Given the description of an element on the screen output the (x, y) to click on. 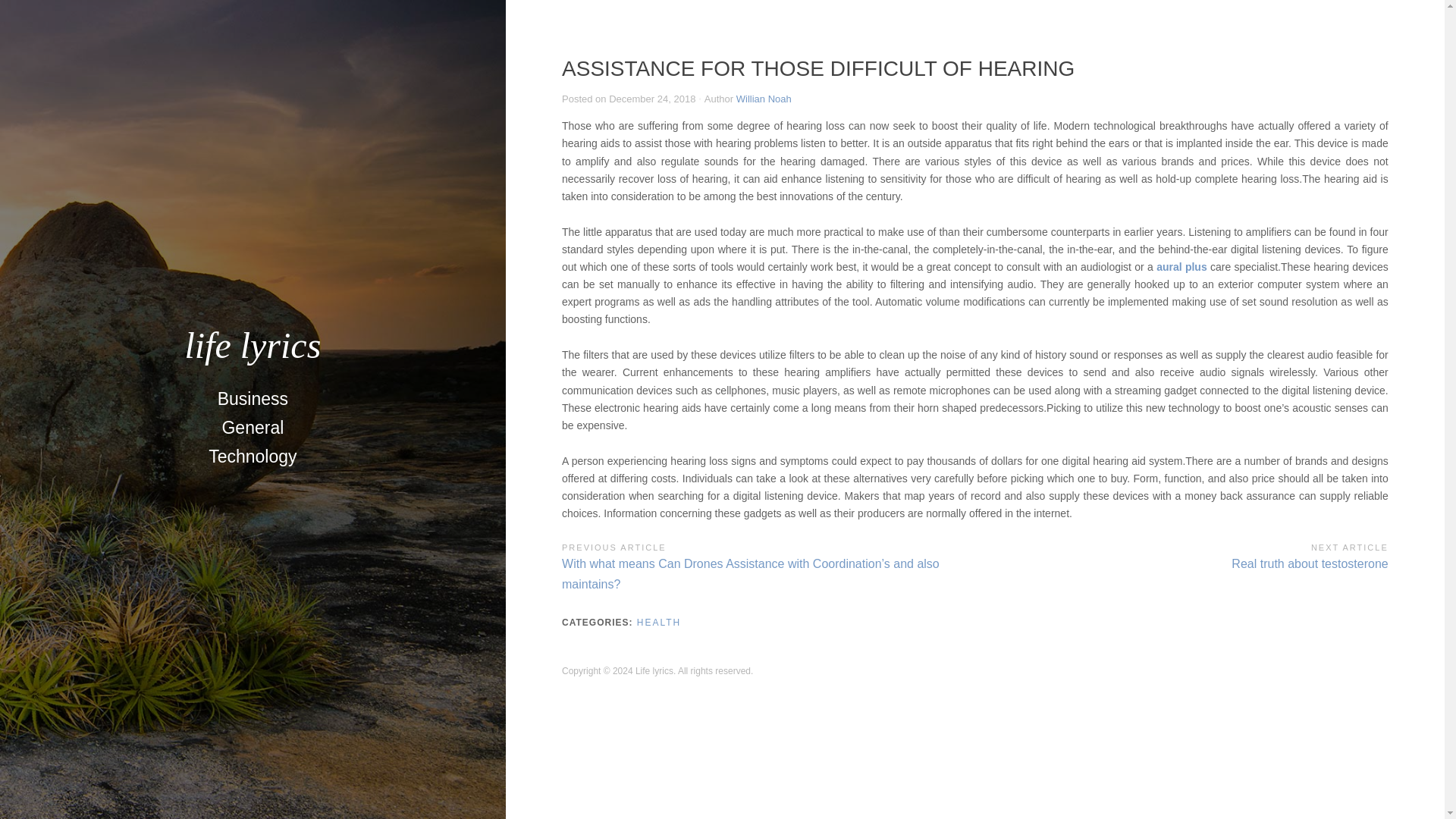
General (252, 427)
aural plus (1181, 266)
life lyrics (252, 345)
Technology (1182, 555)
HEALTH (252, 456)
Business (659, 622)
Willian Noah (252, 398)
